Given the description of an element on the screen output the (x, y) to click on. 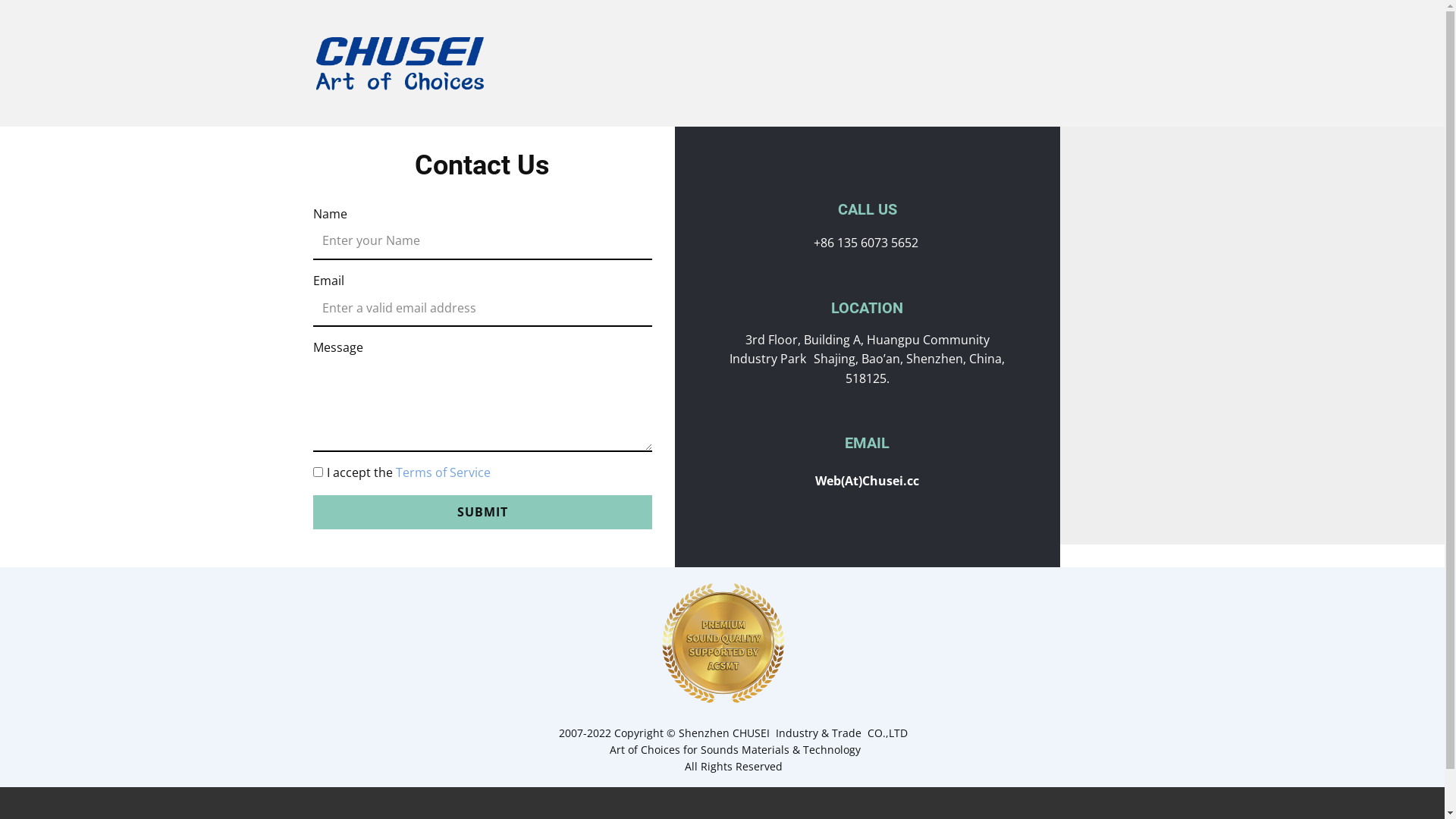
Terms of Service Element type: text (442, 472)
SUBMIT Element type: text (482, 512)
